Given the description of an element on the screen output the (x, y) to click on. 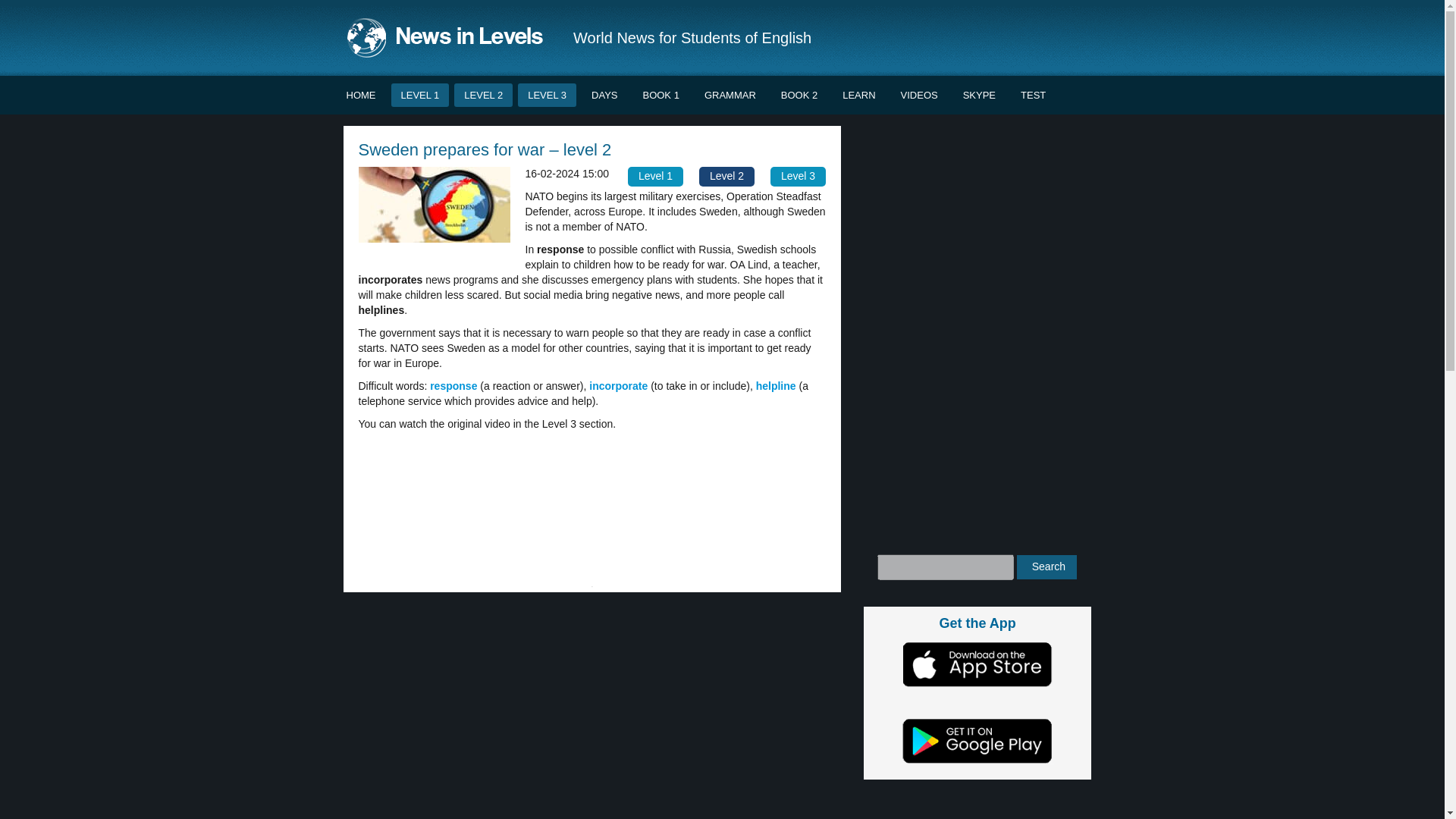
HOME (360, 95)
Level 1 (654, 176)
Search (1046, 567)
LEVEL 1 (420, 95)
DAYS (603, 95)
BOOK 1 (659, 95)
LEVEL 3 (547, 95)
LEVEL 2 (483, 95)
Advertisement (591, 709)
LEARN (858, 95)
